Given the description of an element on the screen output the (x, y) to click on. 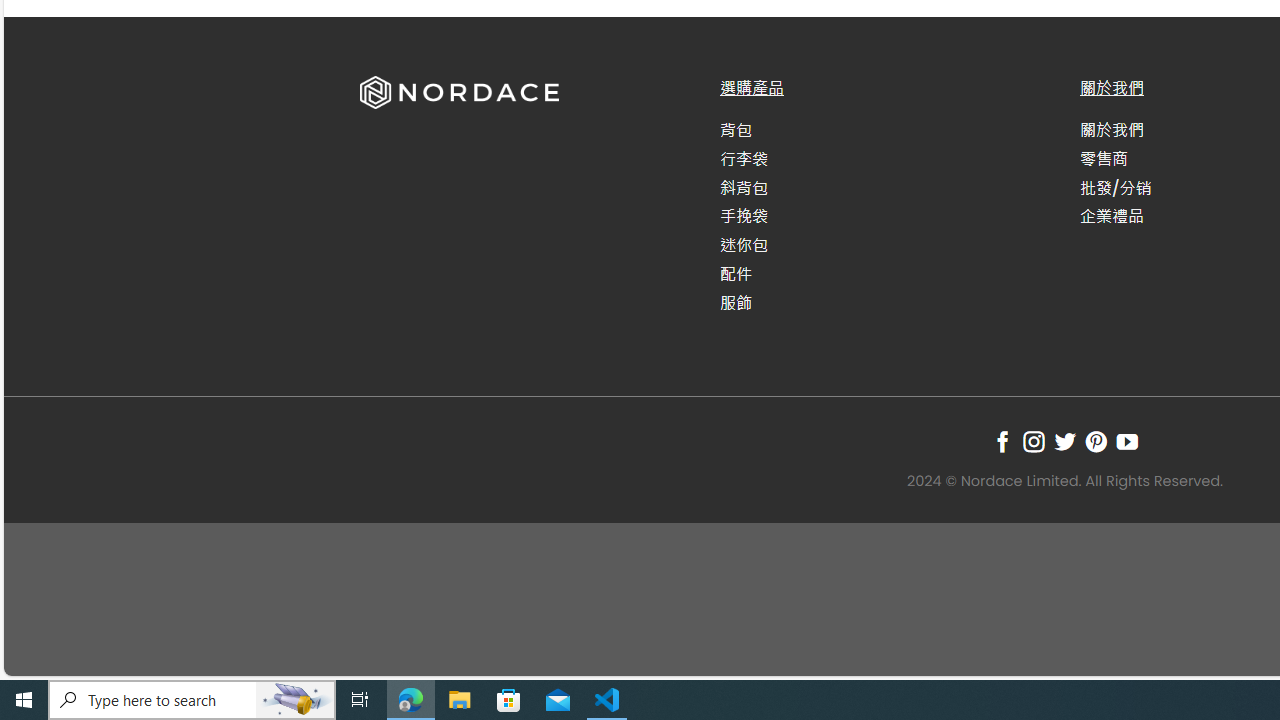
Follow on Twitter (1064, 441)
